Given the description of an element on the screen output the (x, y) to click on. 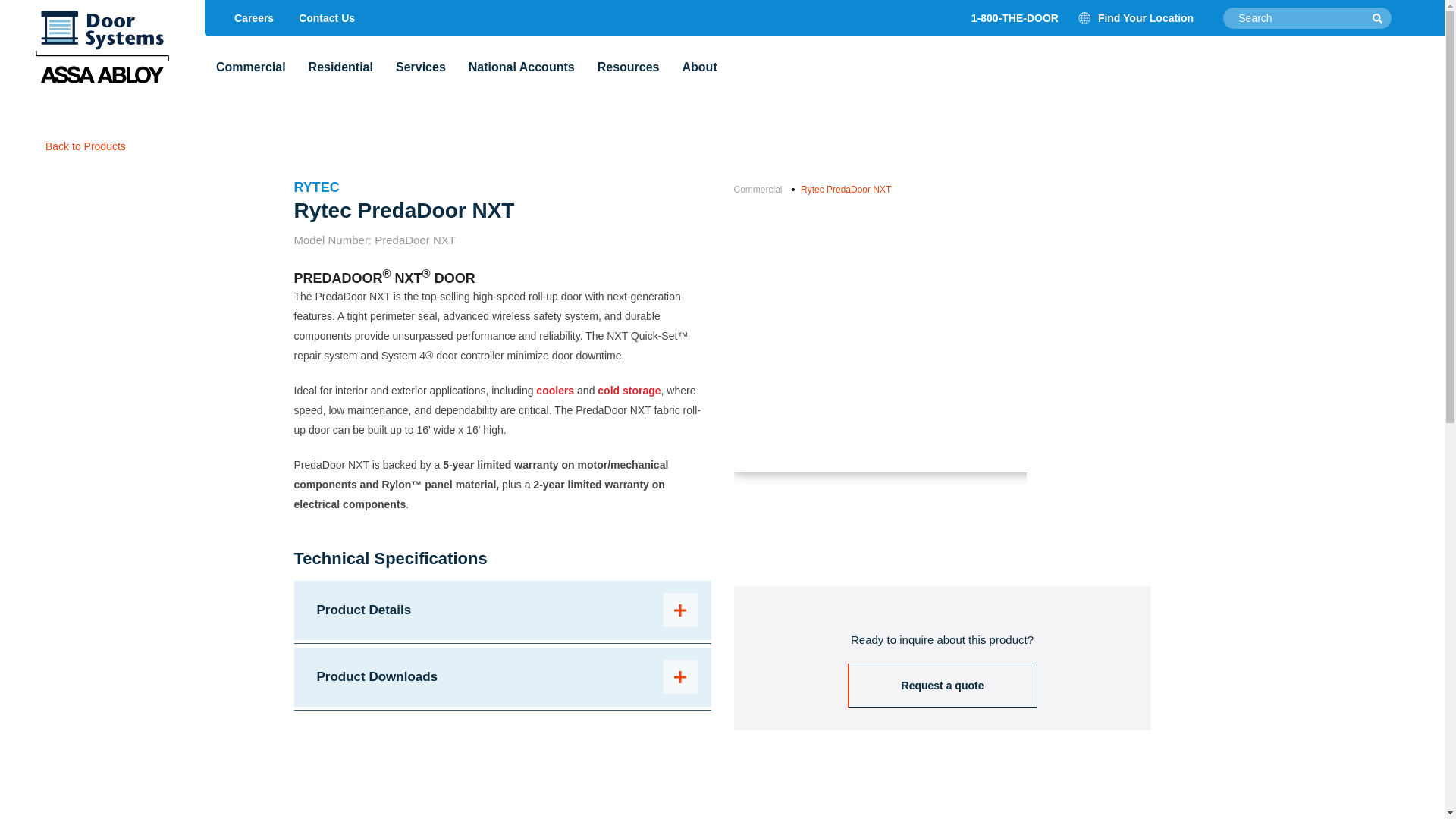
Find Your Location (1135, 18)
Careers (253, 18)
Commercial (251, 67)
DS-Logo-fin (101, 48)
1-800-THE-DOOR (1014, 18)
Contact Us (326, 18)
